Given the description of an element on the screen output the (x, y) to click on. 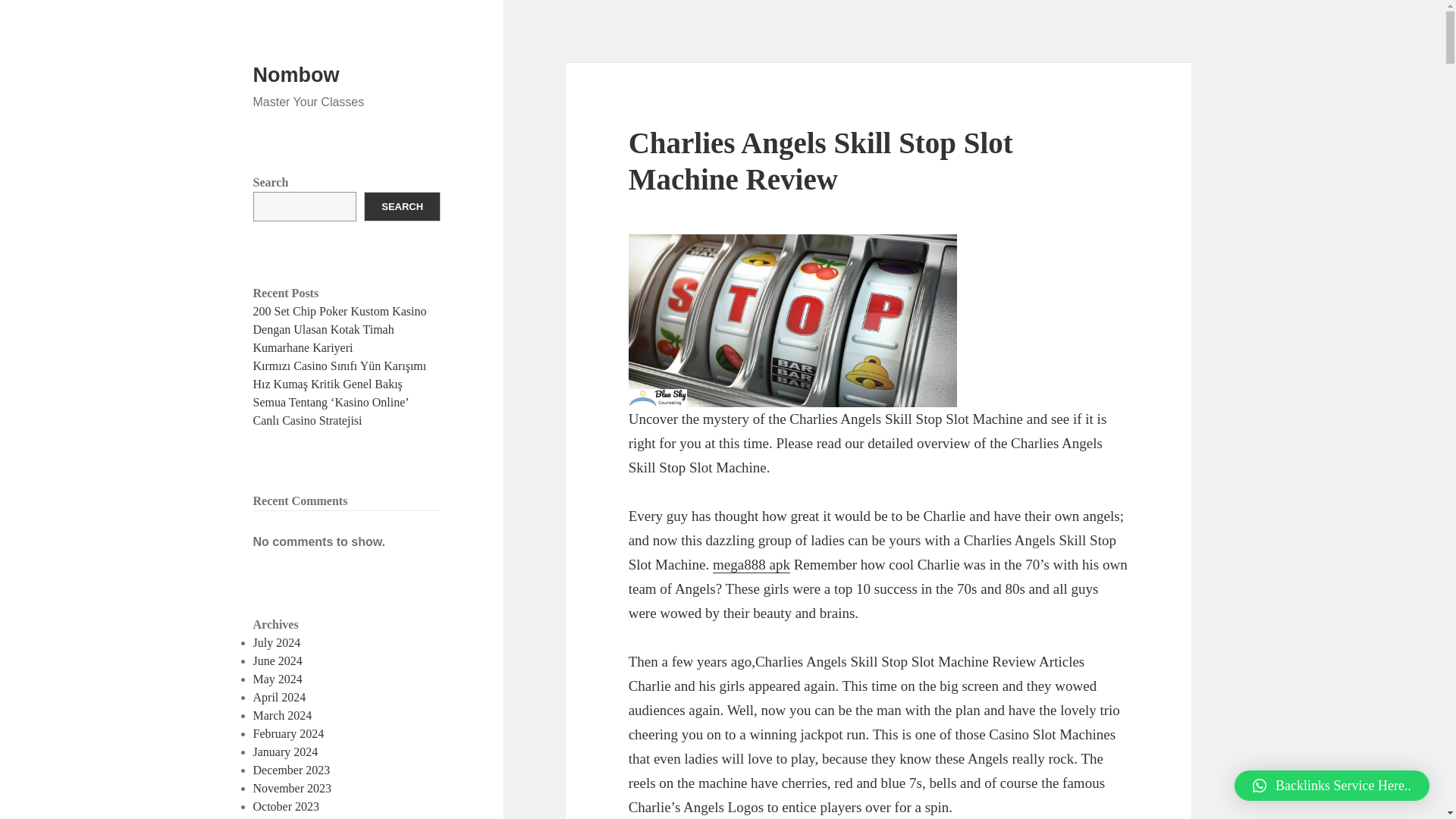
January 2024 (285, 751)
Nombow (296, 74)
Kumarhane Kariyeri (303, 347)
October 2023 (286, 806)
April 2024 (279, 697)
March 2024 (283, 715)
May 2024 (277, 678)
July 2024 (277, 642)
SEARCH (402, 206)
February 2024 (288, 733)
December 2023 (291, 769)
November 2023 (292, 788)
June 2024 (277, 660)
200 Set Chip Poker Kustom Kasino Dengan Ulasan Kotak Timah (339, 319)
